Given the description of an element on the screen output the (x, y) to click on. 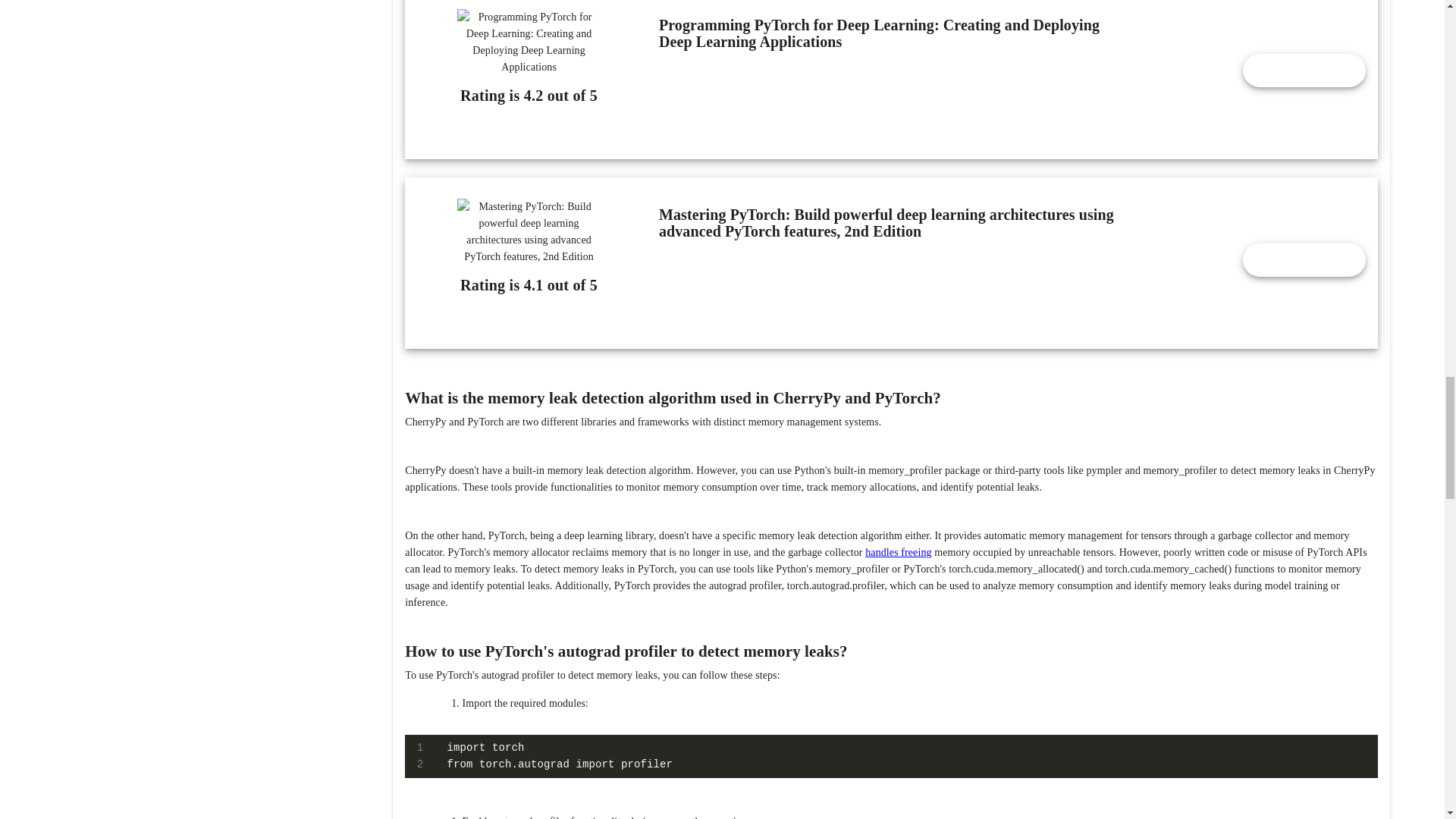
GET BOOK NOW (1304, 70)
GET BOOK NOW (1304, 259)
handles freeing (897, 552)
